Given the description of an element on the screen output the (x, y) to click on. 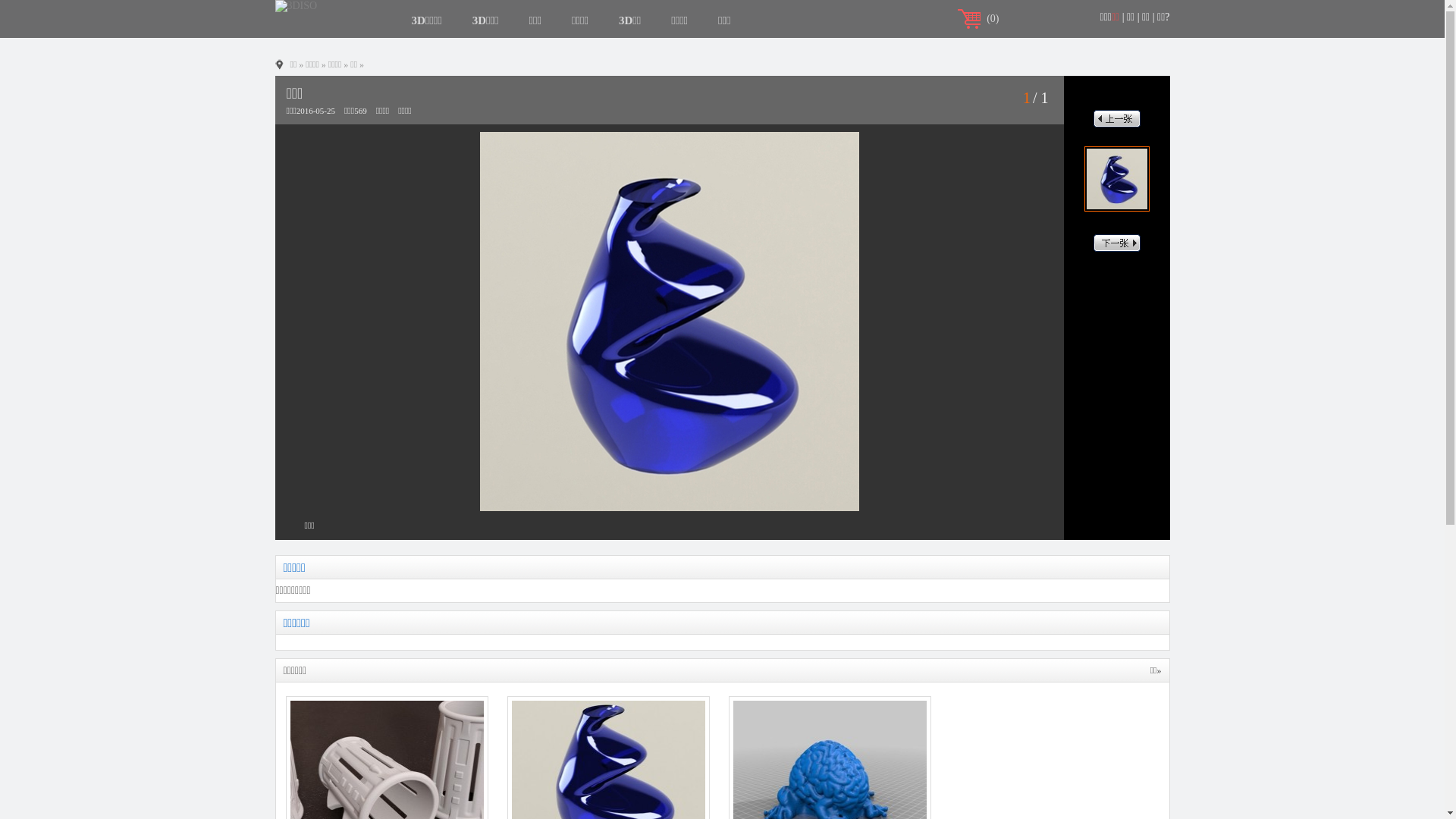
(0) Element type: text (992, 18)
